Given the description of an element on the screen output the (x, y) to click on. 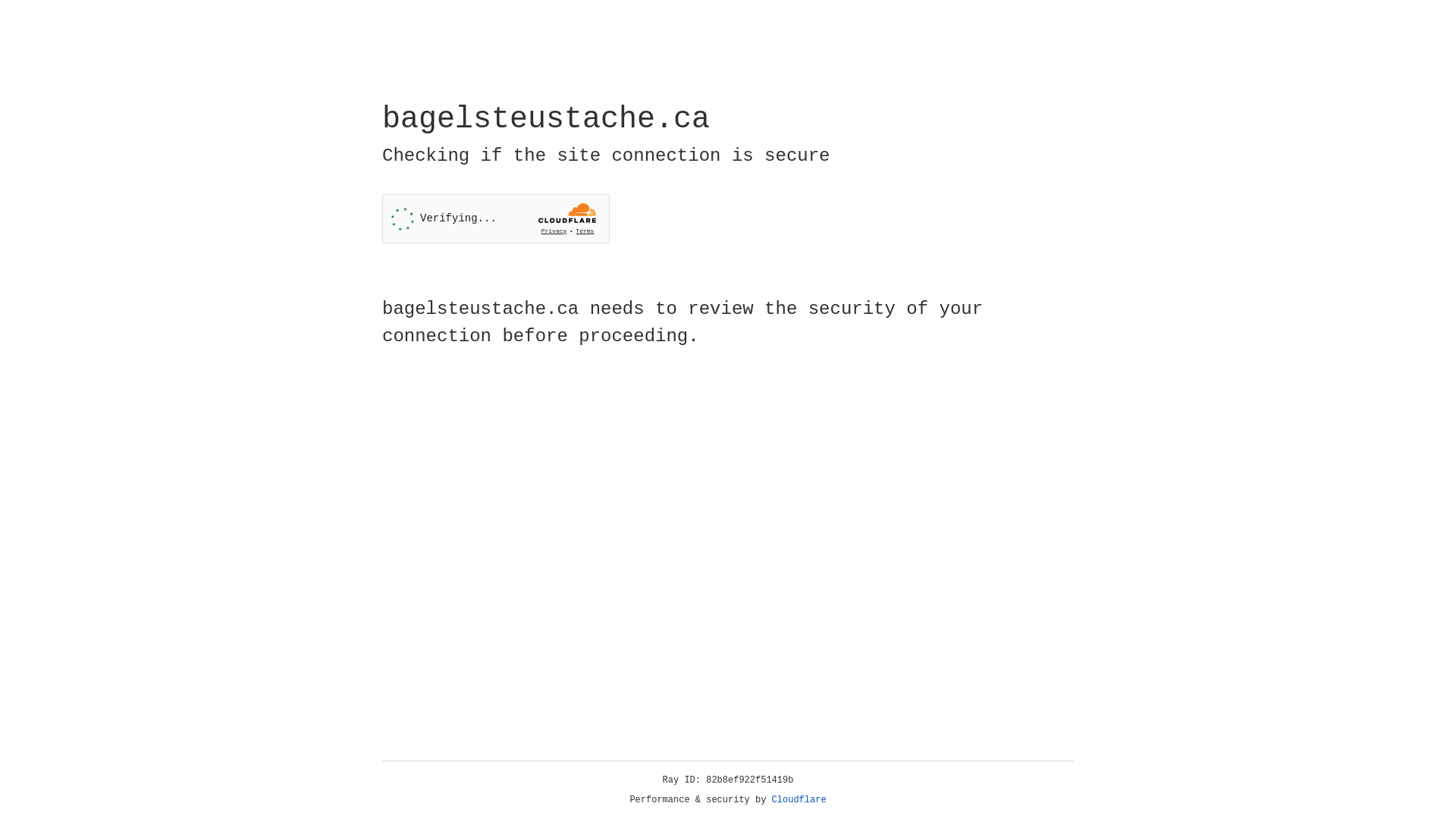
Cloudflare Element type: text (798, 799)
Widget containing a Cloudflare security challenge Element type: hover (495, 218)
